Given the description of an element on the screen output the (x, y) to click on. 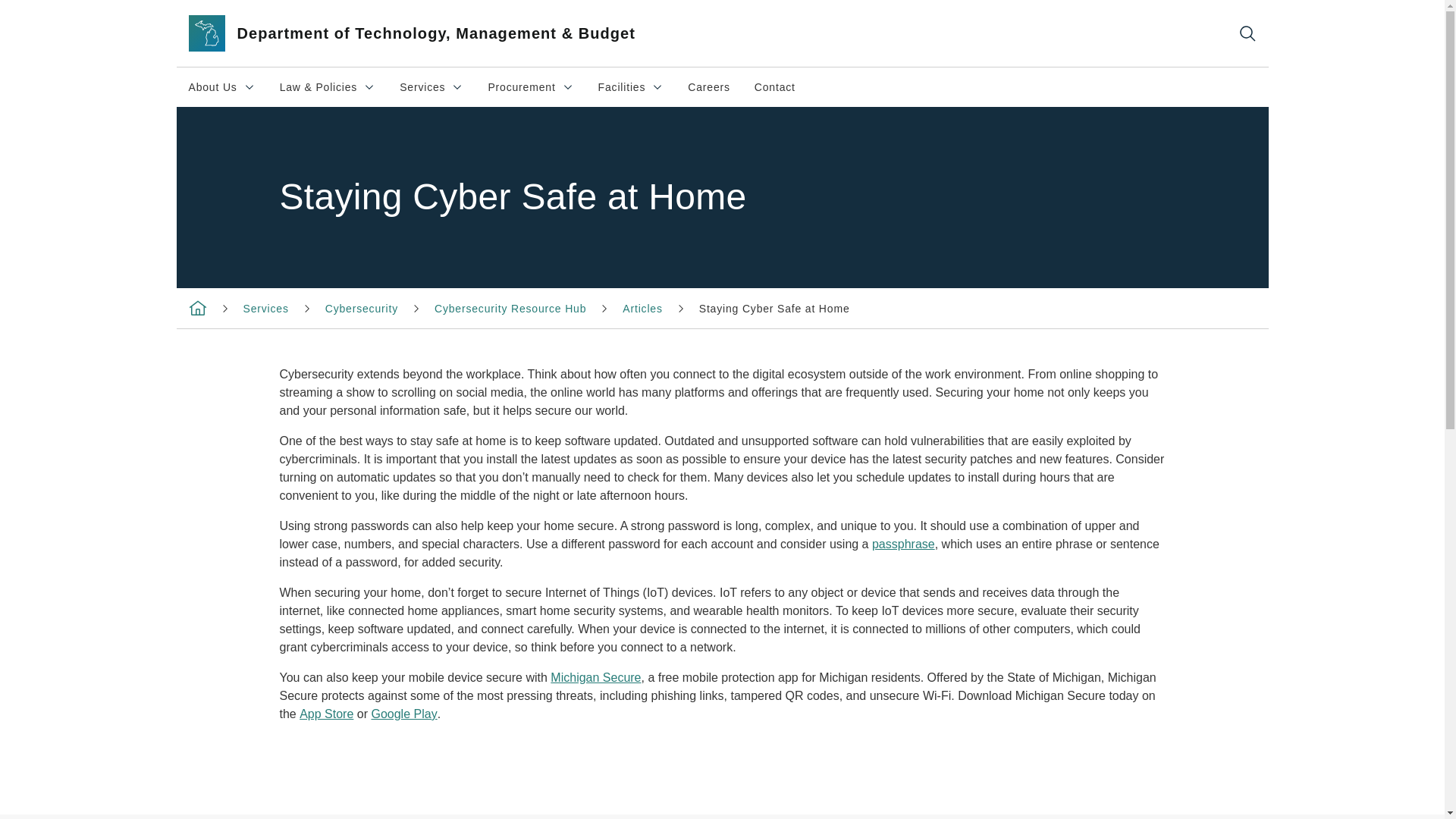
Services (265, 308)
Articles (642, 308)
Cybersecurity Resource Hub (509, 308)
Contact (775, 87)
Cybersecurity (631, 87)
Careers (360, 308)
Staying Cyber Safe at Home (708, 87)
